Given the description of an element on the screen output the (x, y) to click on. 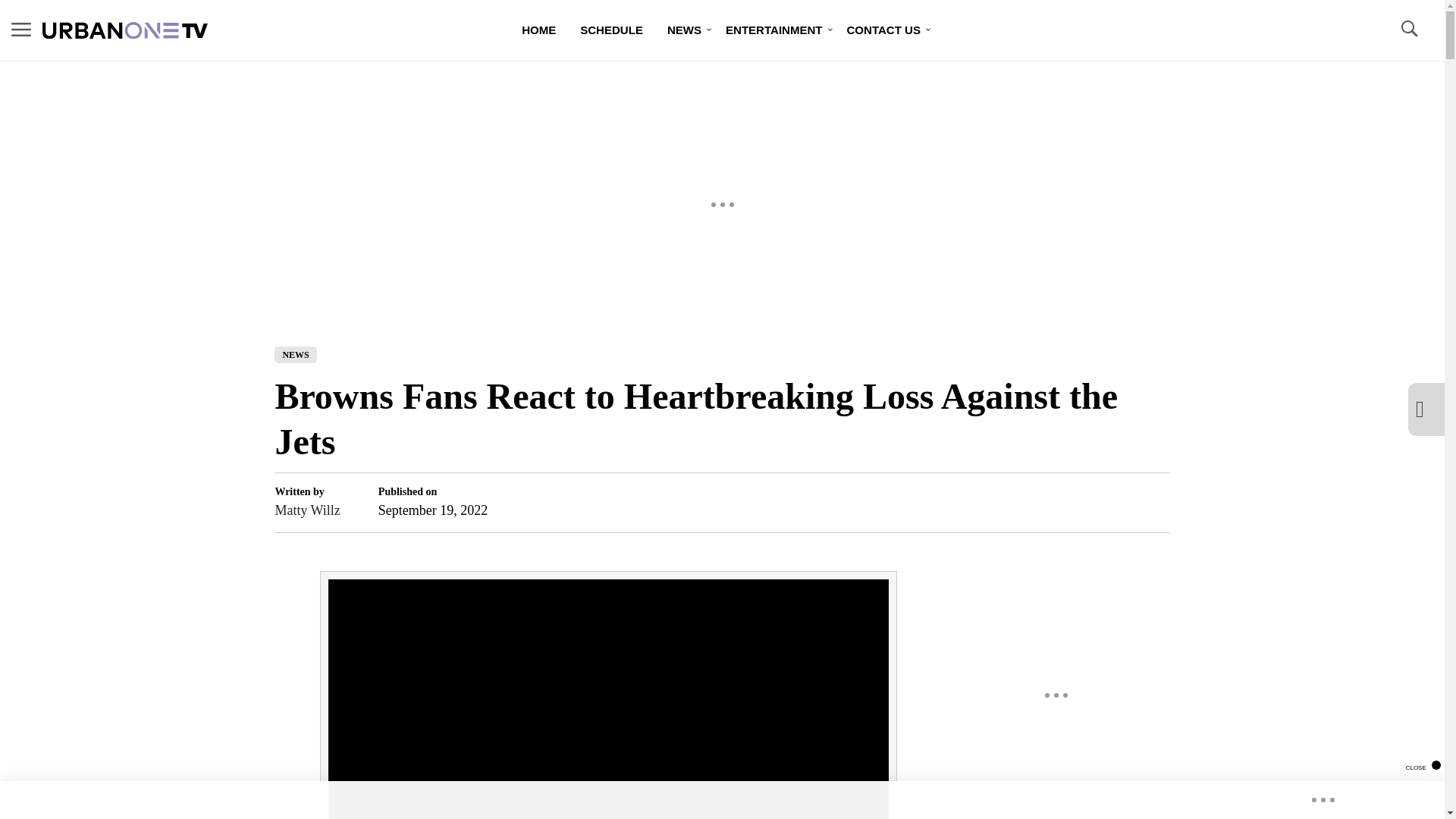
TOGGLE SEARCH (1408, 28)
NEWS (684, 30)
TOGGLE SEARCH (1408, 30)
Entertainment News (773, 30)
CONTACT US (882, 30)
News  (684, 30)
Share (1131, 502)
NEWS (295, 354)
ENTERTAINMENT (773, 30)
MENU (20, 29)
